Given the description of an element on the screen output the (x, y) to click on. 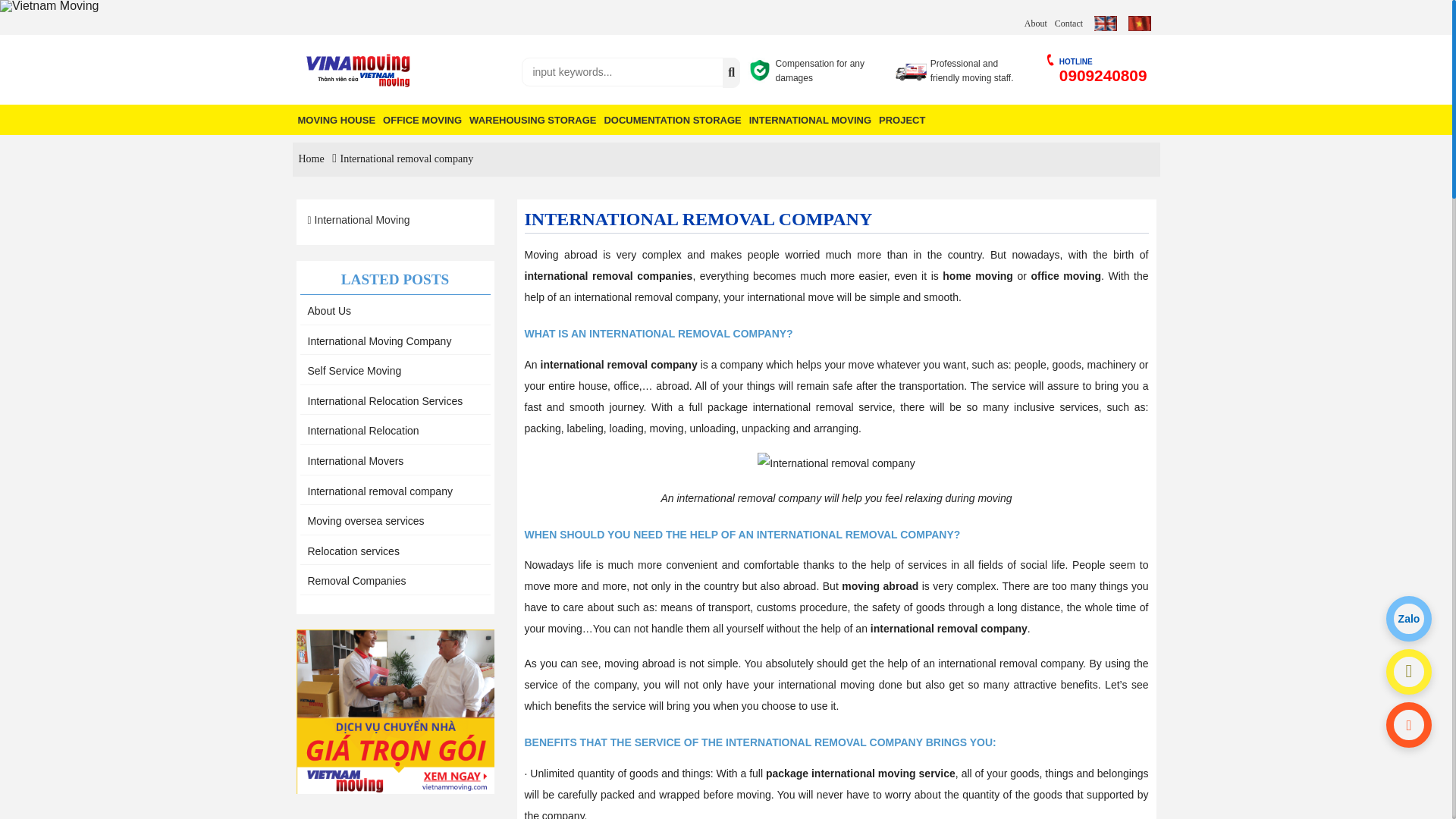
Project (901, 118)
INTERNATIONAL MOVING (810, 118)
Vina moving (400, 70)
Documentation storage (671, 118)
PROJECT (901, 118)
WAREHOUSING STORAGE (532, 118)
International Moving (810, 118)
Moving House (337, 118)
DOCUMENTATION STORAGE (671, 118)
Contact (1068, 24)
